Given the description of an element on the screen output the (x, y) to click on. 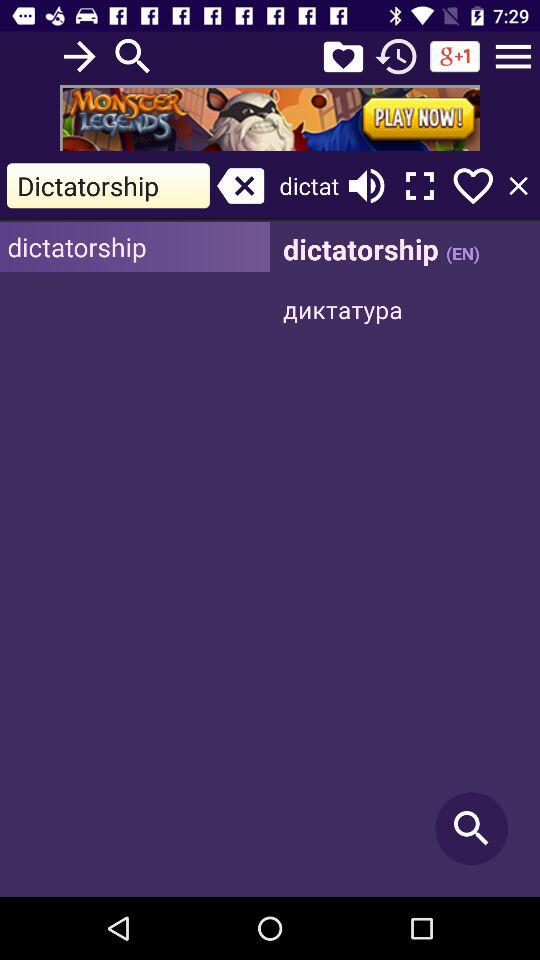
make fullscreen (419, 185)
